Given the description of an element on the screen output the (x, y) to click on. 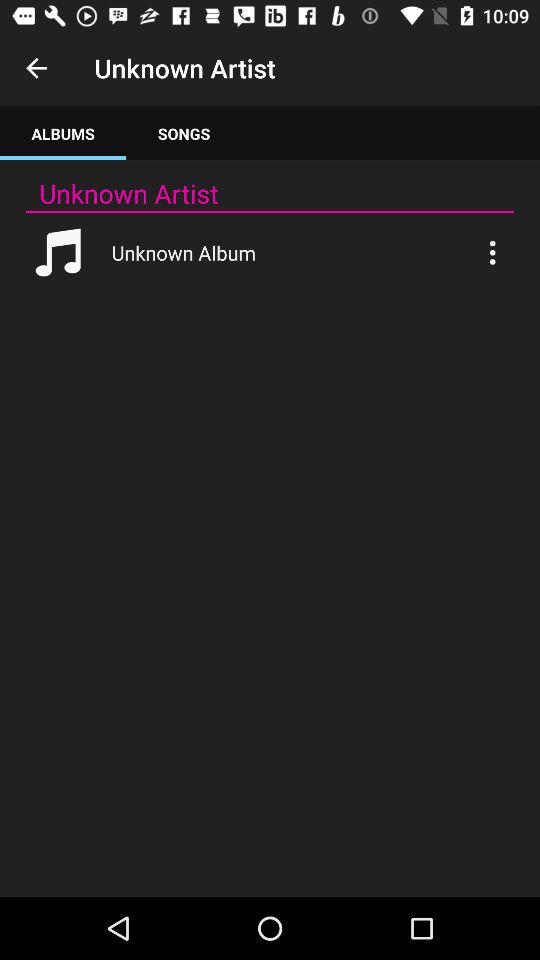
click the albums (63, 133)
